Given the description of an element on the screen output the (x, y) to click on. 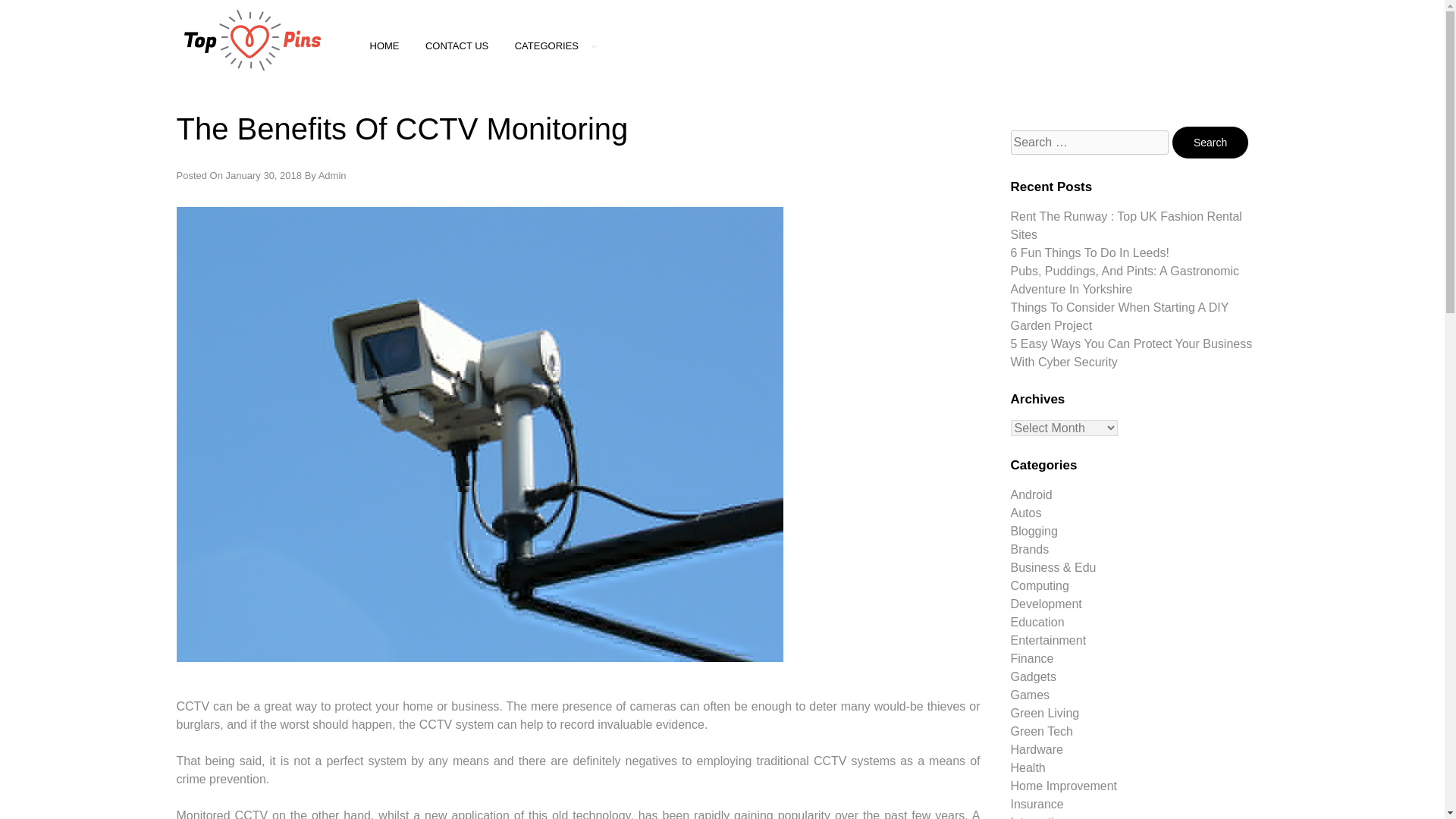
CATEGORIES (555, 45)
Things To Consider When Starting A DIY Garden Project (1119, 316)
Finance (1031, 658)
6 Fun Things To Do In Leeds! (1089, 252)
Android (1030, 494)
Autos (1025, 512)
Green Tech (1040, 730)
Computing (1039, 585)
Education (1037, 621)
Entertainment (1048, 640)
Search (1210, 142)
Admin (332, 174)
Health (1027, 767)
Green Living (1044, 712)
